Given the description of an element on the screen output the (x, y) to click on. 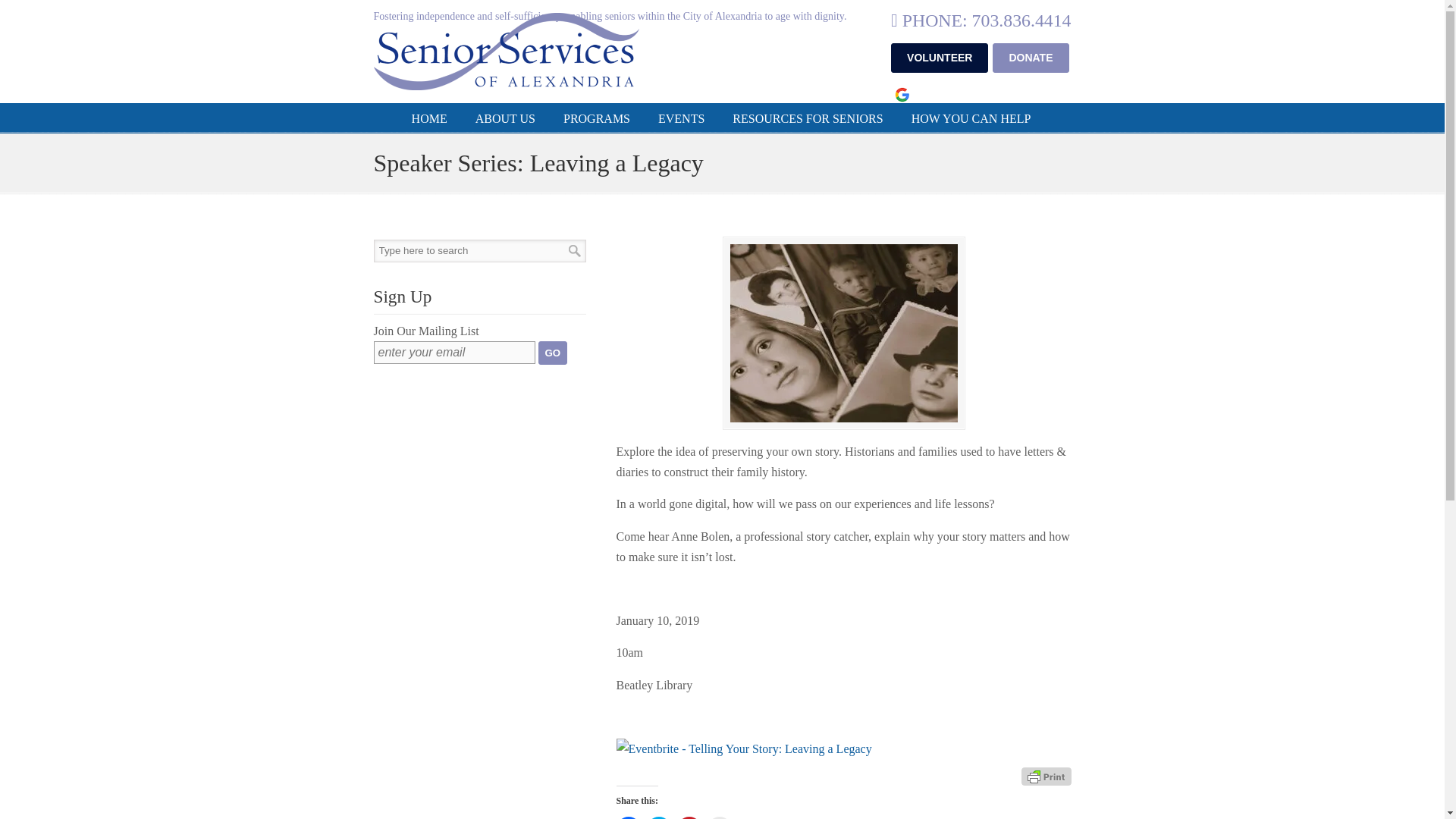
Donate - Make a difference! (1030, 57)
Volunteer with SSA (939, 57)
Click to share on Pinterest (688, 817)
Click to share on Twitter (657, 817)
ABOUT US (505, 119)
HOME (429, 119)
VOLUNTEER (939, 57)
Powered by Google Translate (900, 92)
Speaker Series: Leaving a Legacy (842, 333)
DONATE (1030, 57)
Click to share on Facebook (627, 817)
RESOURCES FOR SENIORS (807, 119)
EVENTS (681, 119)
PROGRAMS (596, 119)
Click to email a link to a friend (718, 817)
